Given the description of an element on the screen output the (x, y) to click on. 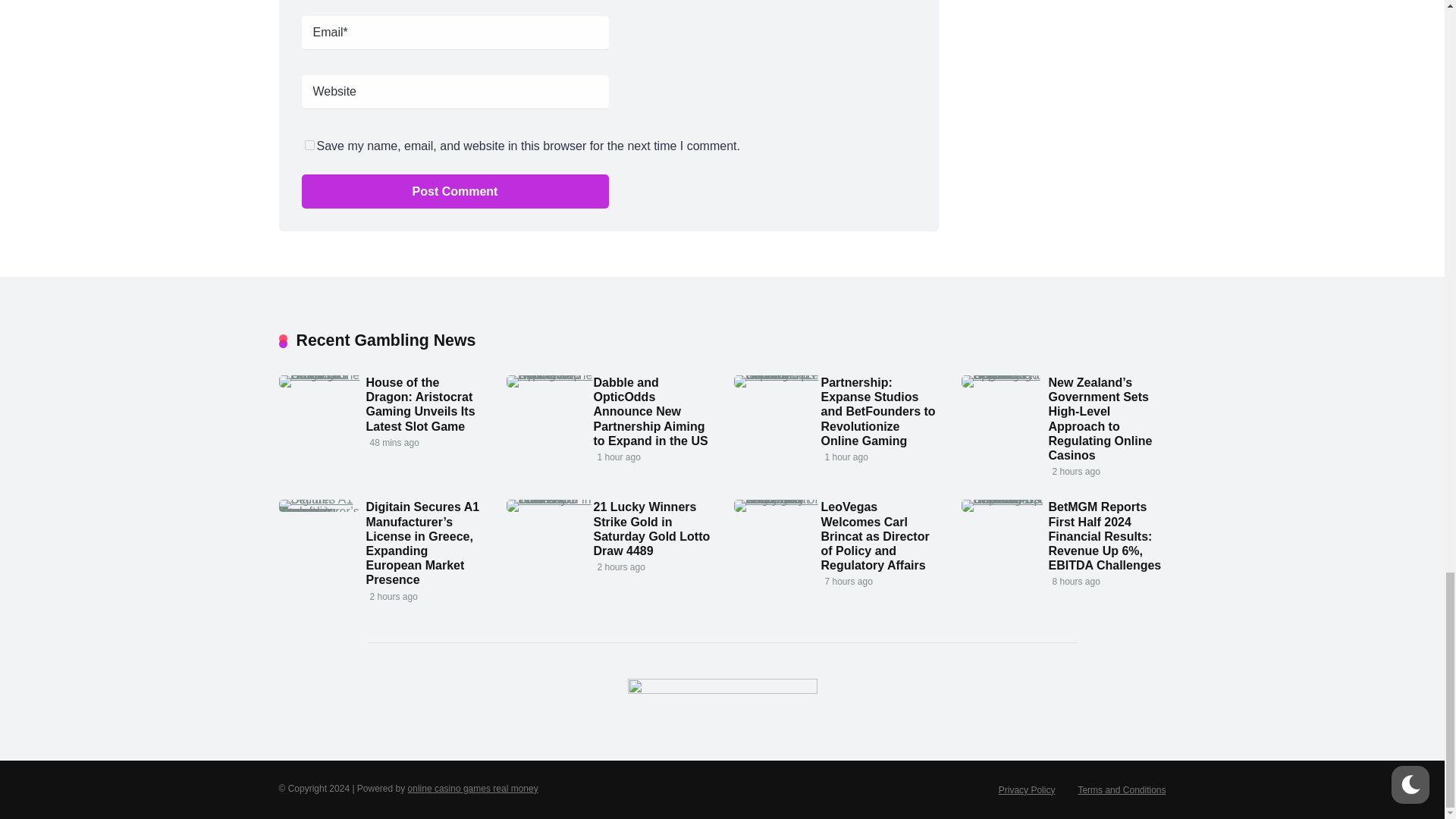
Post Comment (454, 191)
yes (309, 144)
Post Comment (454, 191)
